Given the description of an element on the screen output the (x, y) to click on. 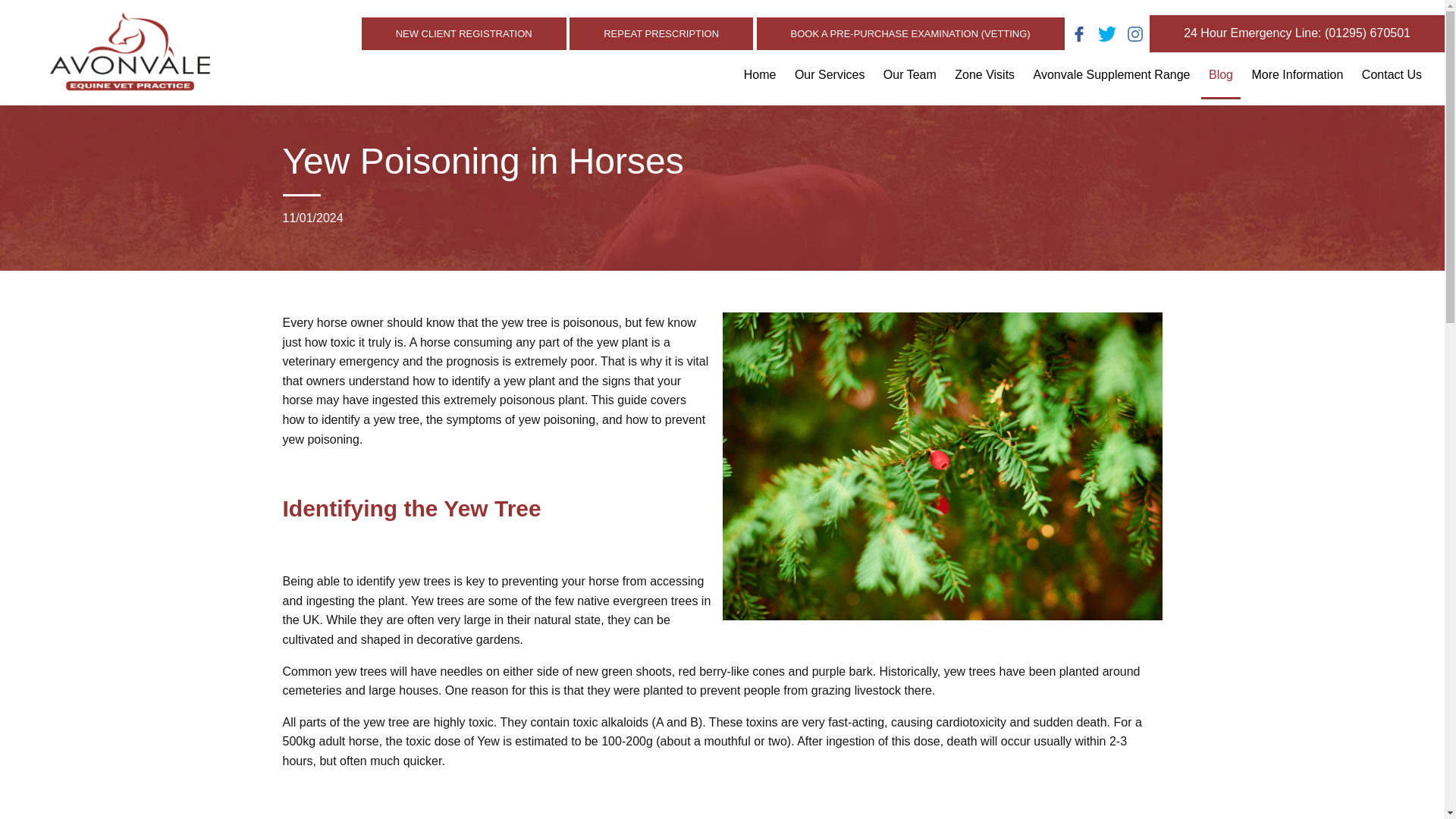
Home (760, 80)
Our Services (829, 80)
